Given the description of an element on the screen output the (x, y) to click on. 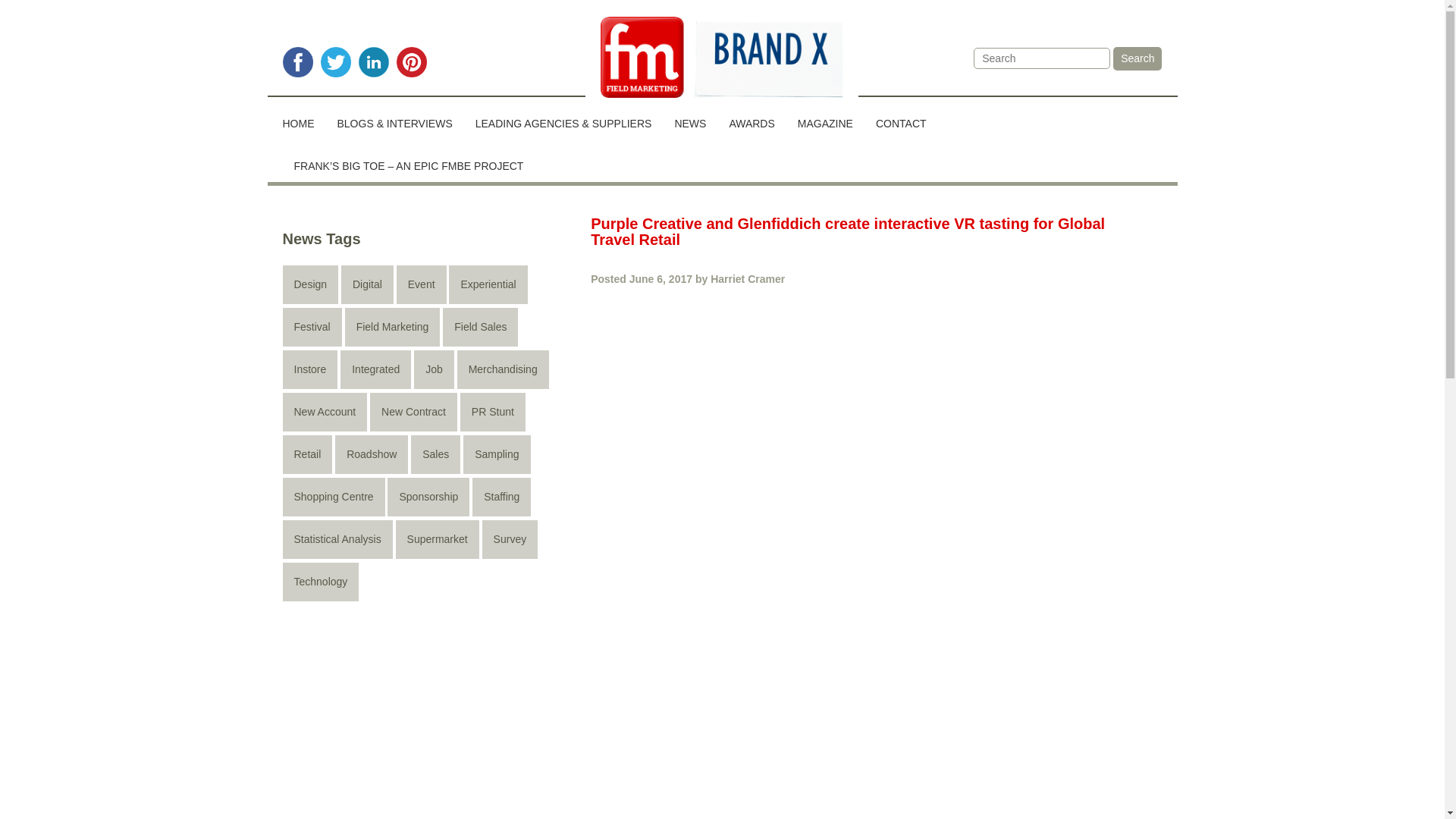
Search (1137, 58)
HOME (303, 118)
AWARDS (751, 118)
MAGAZINE (825, 118)
NEWS (689, 118)
Fieldmarketing (722, 59)
